Given the description of an element on the screen output the (x, y) to click on. 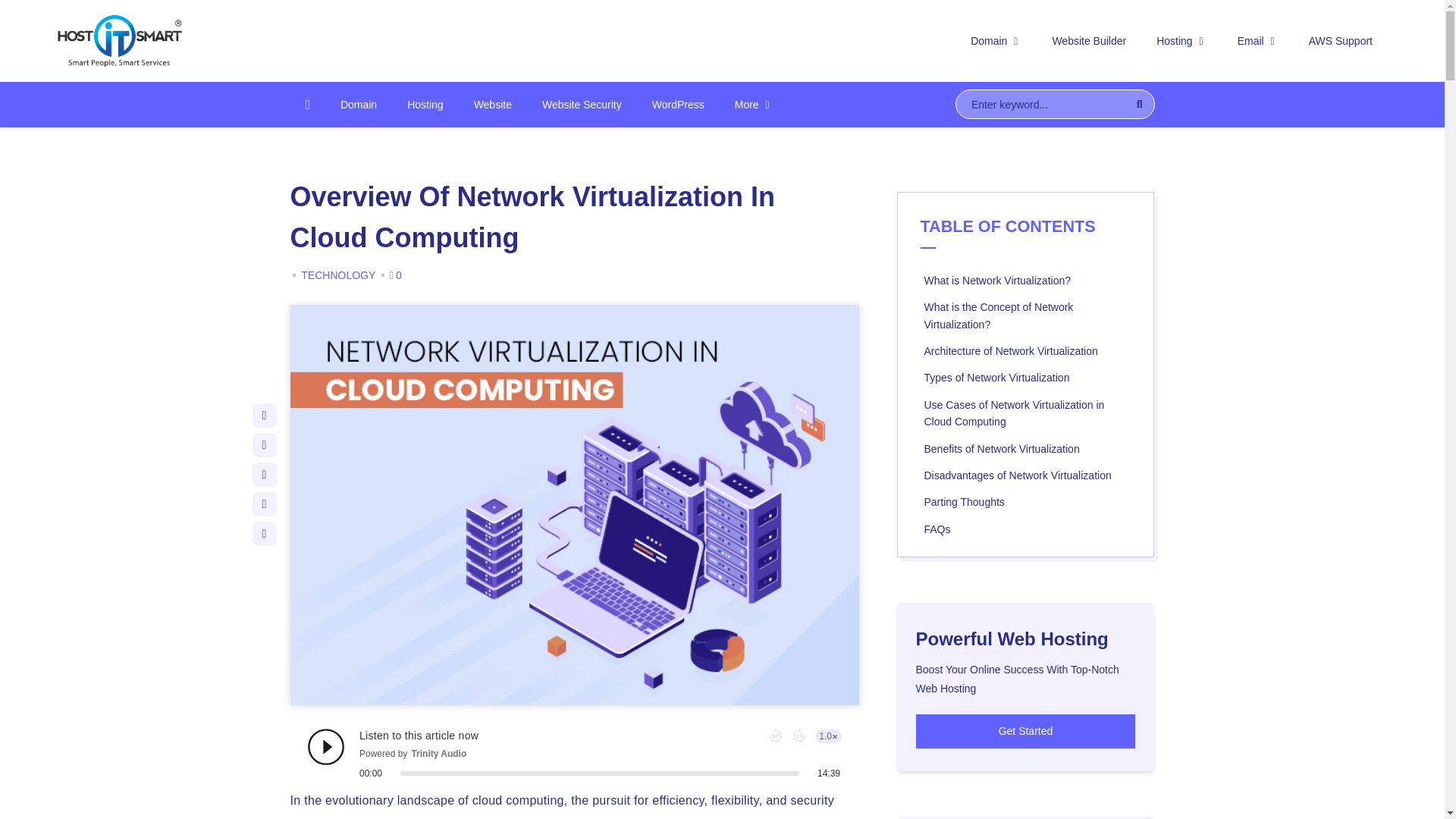
Domain (995, 40)
Domain (995, 40)
Website Builder (1088, 40)
More (754, 104)
Website (492, 104)
Email (1258, 40)
Website Security (582, 104)
Hosting (424, 104)
Domain (357, 104)
Hosting (1181, 40)
Hosting (1181, 40)
Host IT Smart (214, 40)
Website Builder (1088, 40)
WordPress (678, 104)
AWS Support (1340, 40)
